Given the description of an element on the screen output the (x, y) to click on. 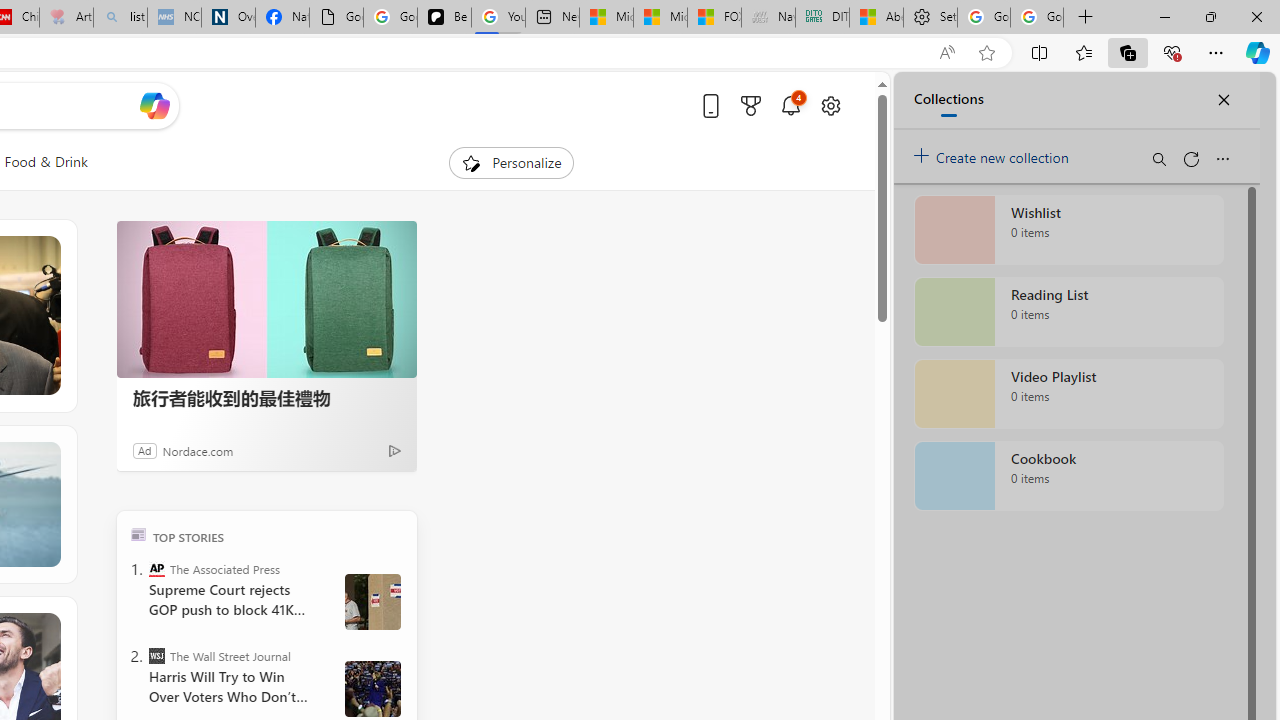
Personalize (511, 162)
Microsoft rewards (749, 105)
Aberdeen, Hong Kong SAR hourly forecast | Microsoft Weather (875, 17)
FOX News - MSN (714, 17)
